Given the description of an element on the screen output the (x, y) to click on. 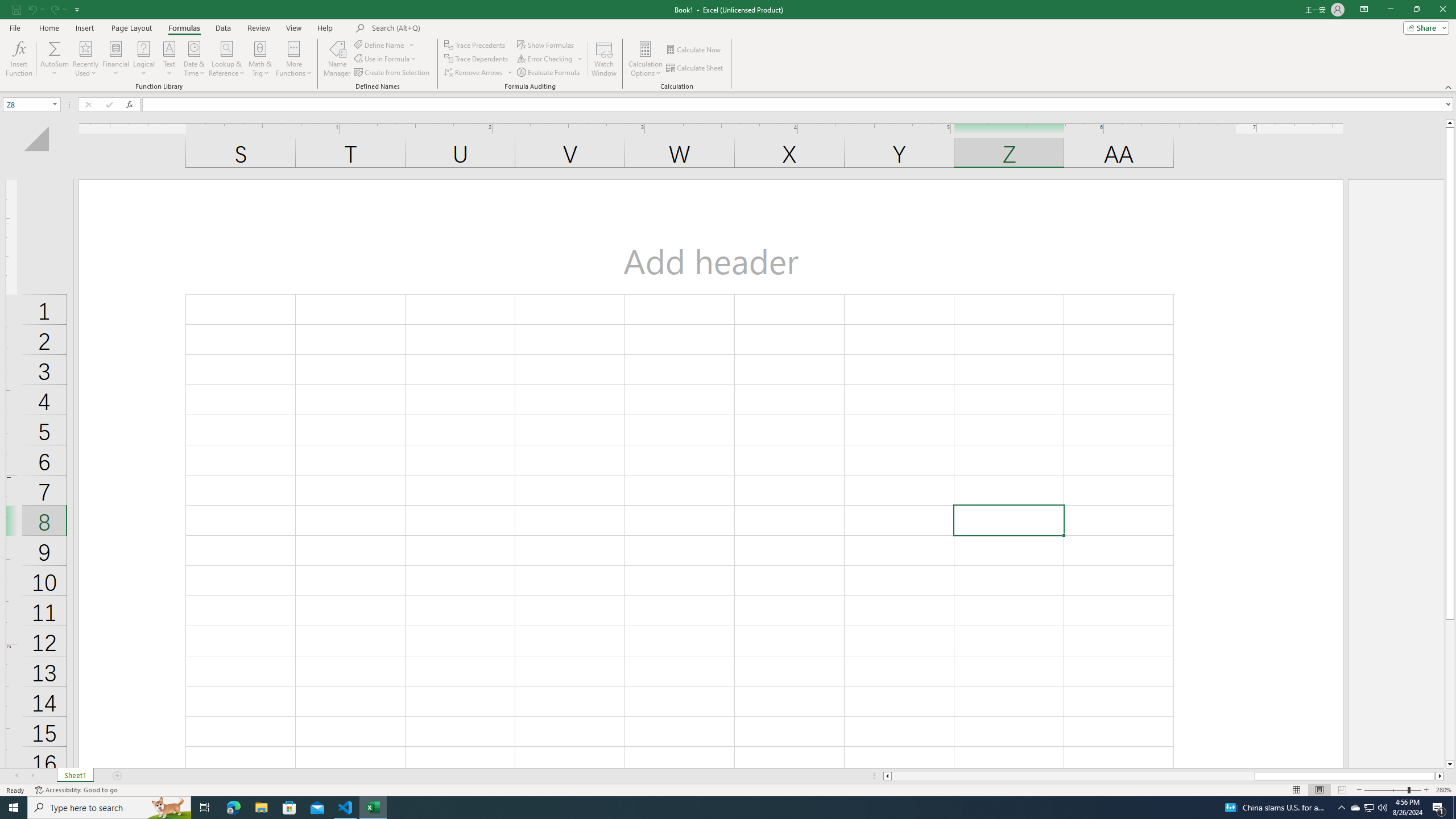
Show Formulas (546, 44)
Error Checking... (545, 58)
Financial (116, 58)
Remove Arrows (474, 72)
Math & Trig (260, 58)
Watch Window (603, 58)
Insert Function... (18, 58)
Logical (143, 58)
